Given the description of an element on the screen output the (x, y) to click on. 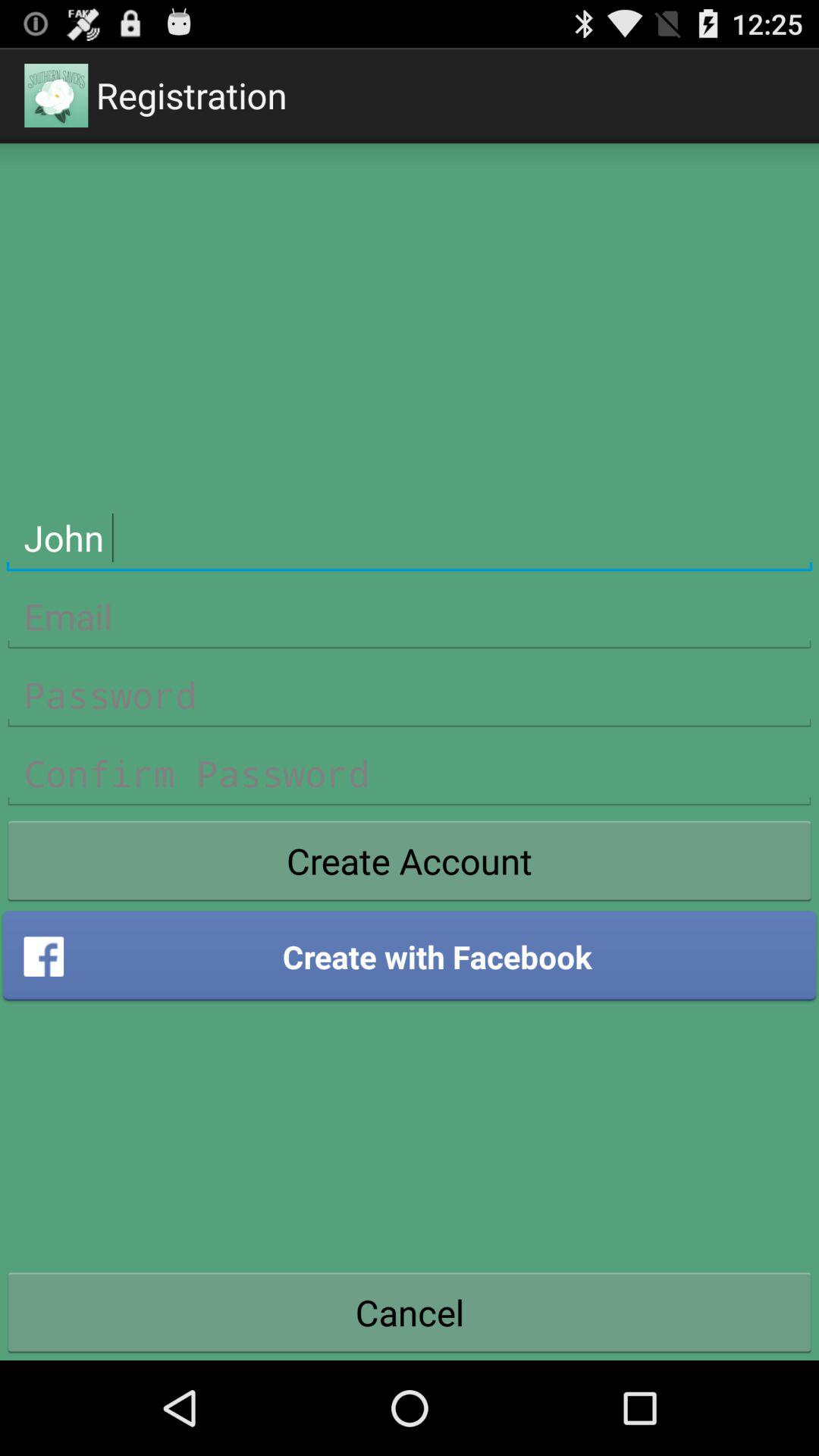
confirm password (409, 773)
